Given the description of an element on the screen output the (x, y) to click on. 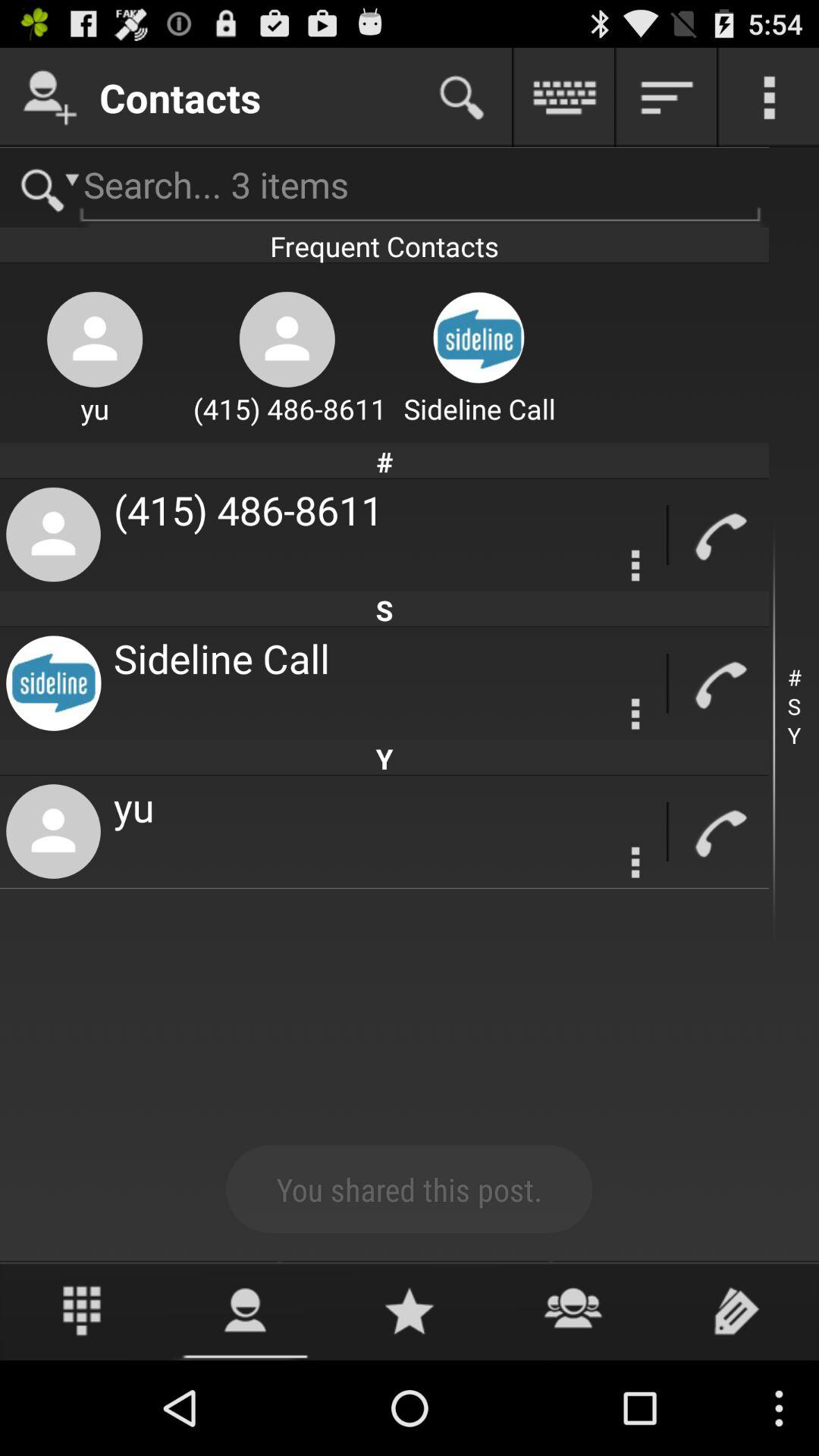
search option (461, 97)
